Given the description of an element on the screen output the (x, y) to click on. 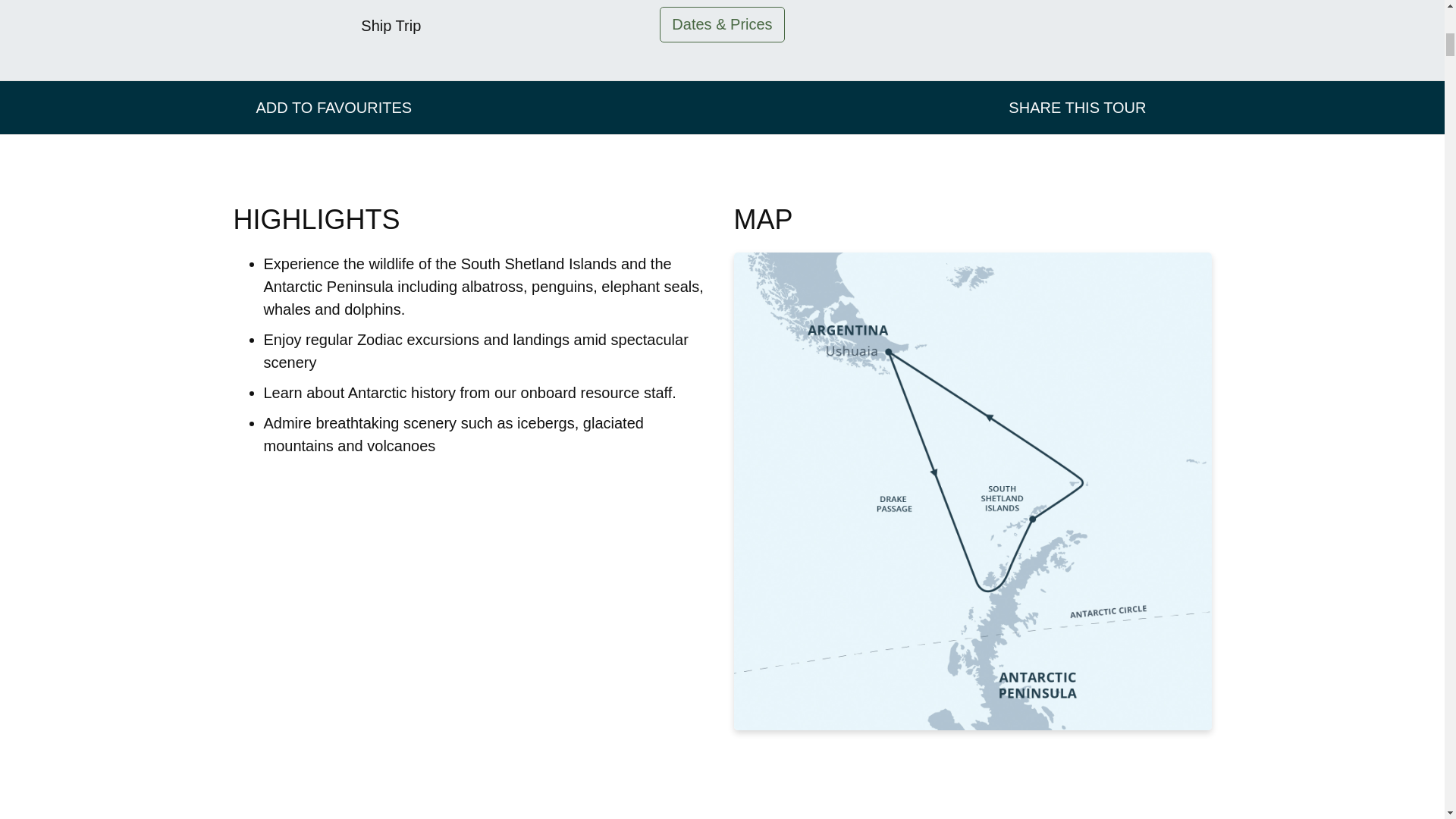
Share via Email (1162, 106)
Share on Twitter (1196, 106)
Share on Facebook (1179, 106)
